Given the description of an element on the screen output the (x, y) to click on. 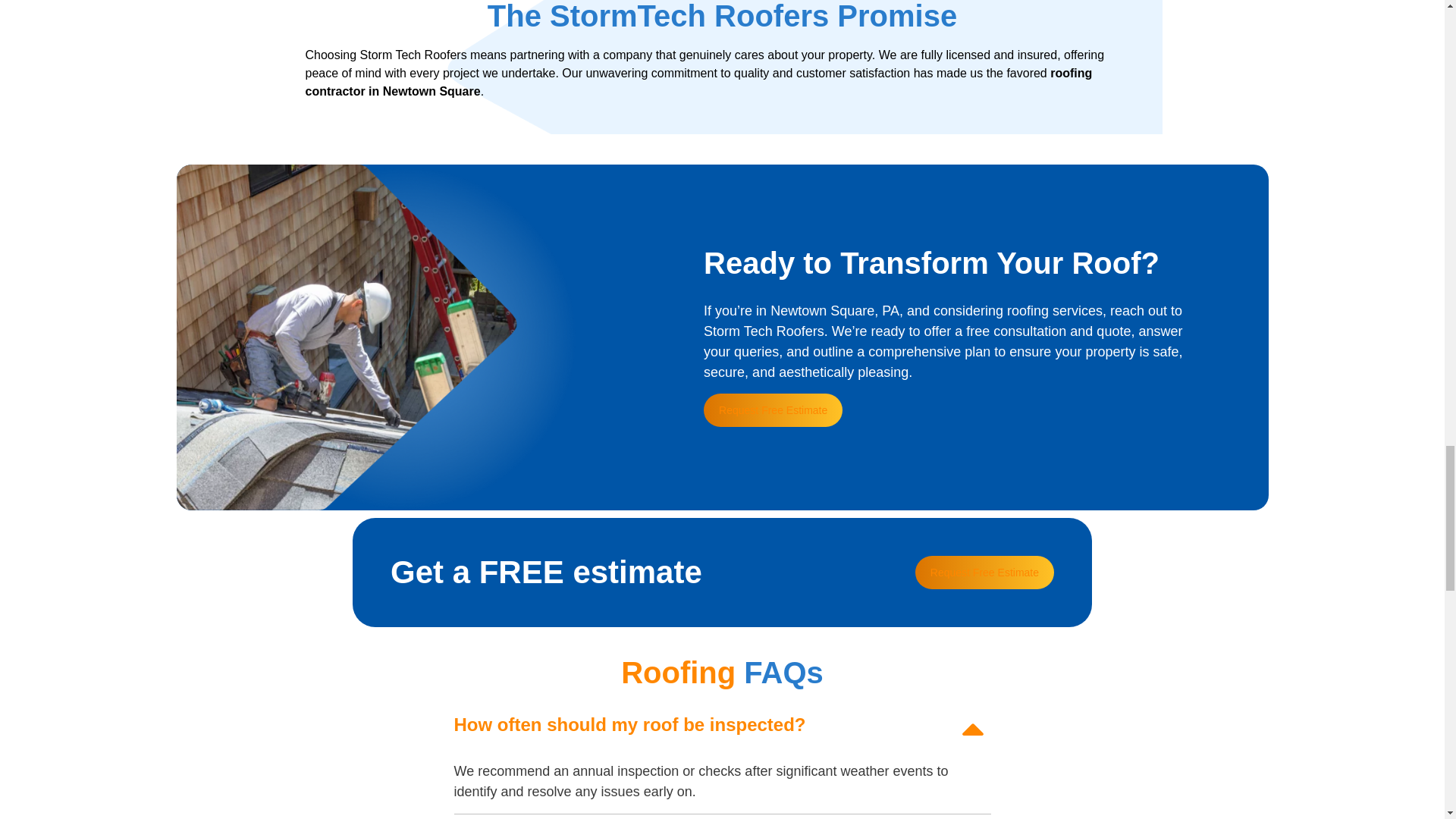
Request Free Estimate (984, 572)
Request Free Estimate (773, 409)
How often should my roof be inspected? (628, 724)
